Given the description of an element on the screen output the (x, y) to click on. 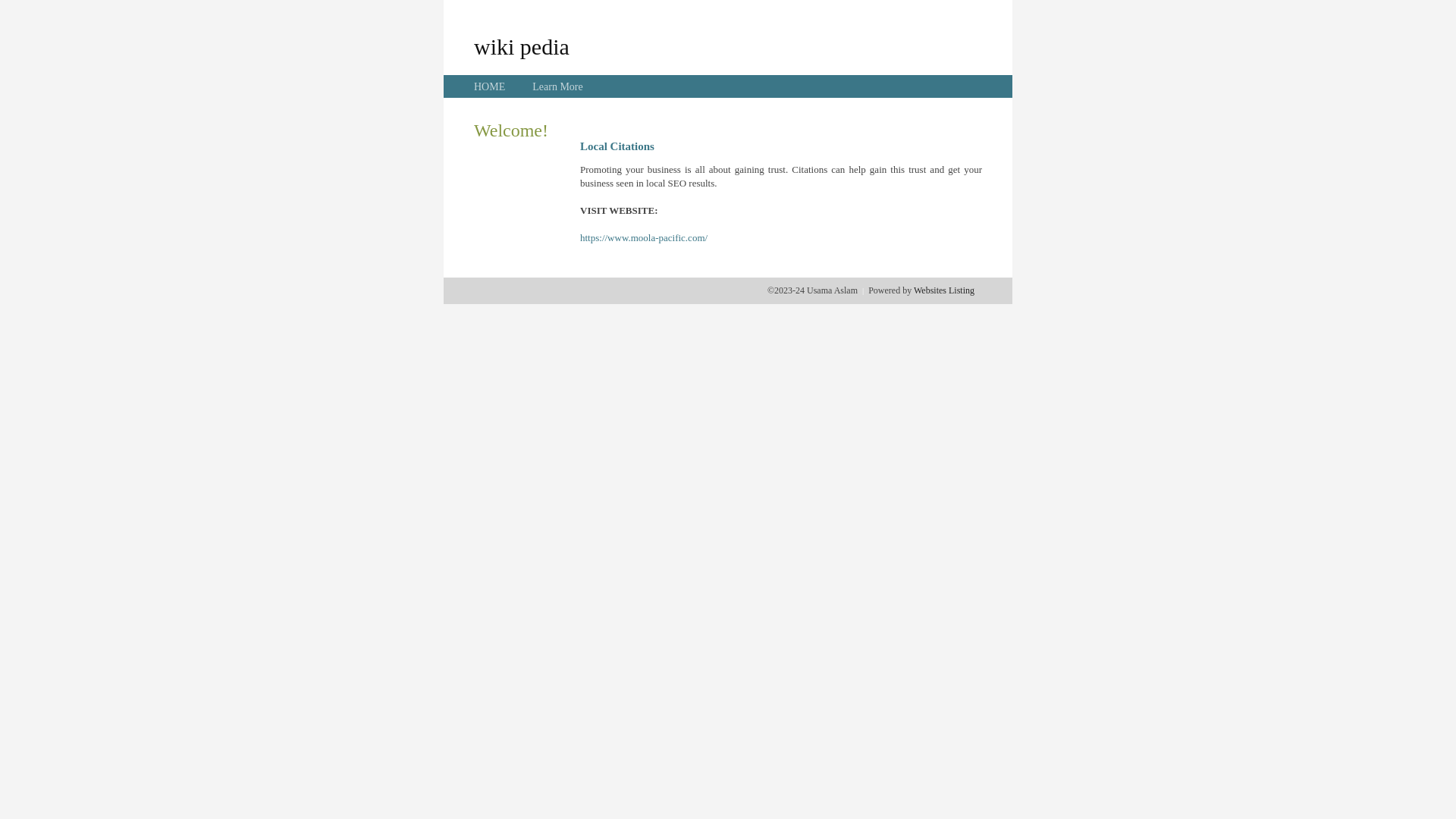
https://www.moola-pacific.com/ Element type: text (643, 237)
HOME Element type: text (489, 86)
Learn More Element type: text (557, 86)
Websites Listing Element type: text (943, 290)
wiki pedia Element type: text (521, 46)
